Given the description of an element on the screen output the (x, y) to click on. 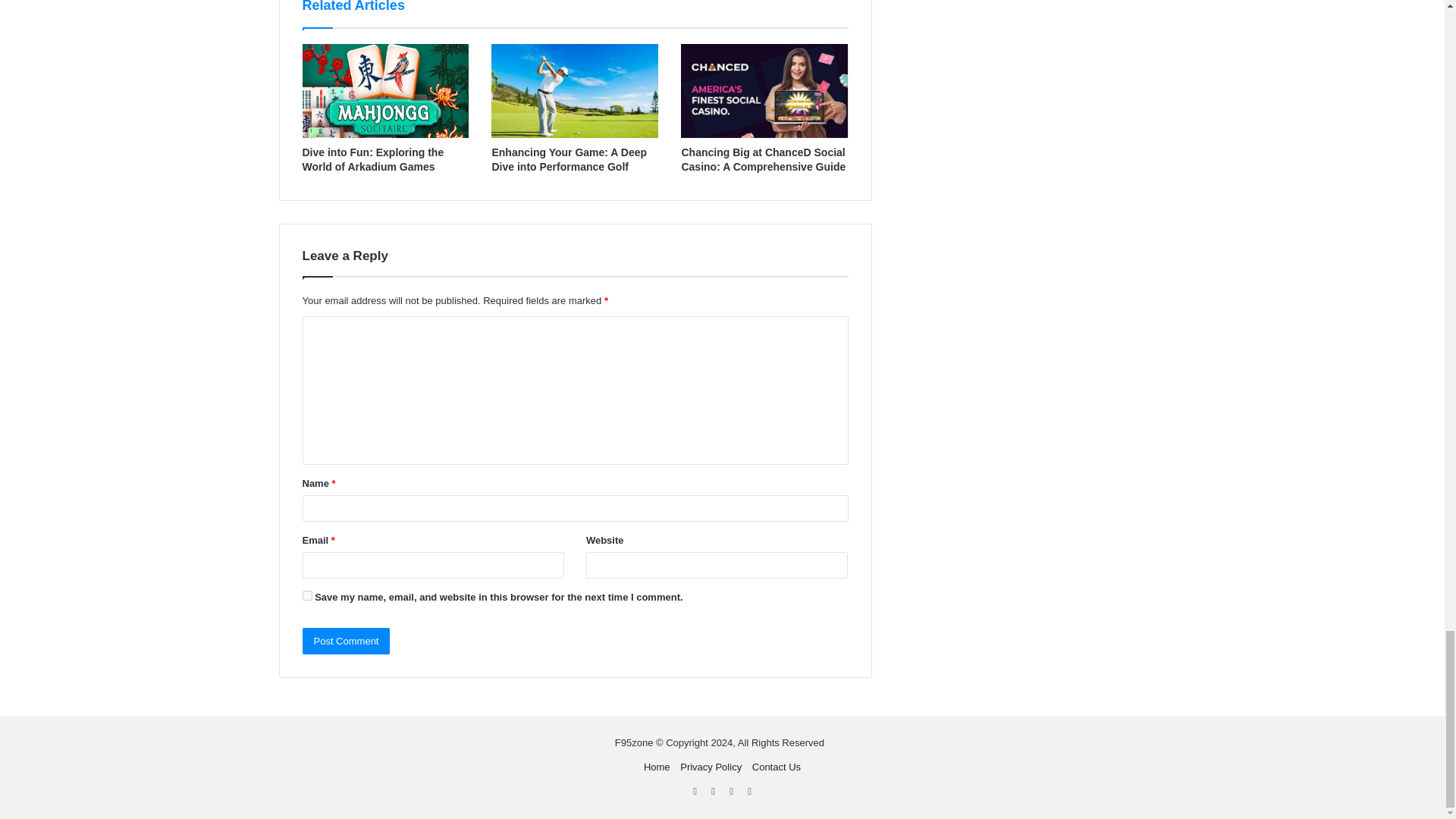
Post Comment (345, 641)
yes (306, 595)
